Given the description of an element on the screen output the (x, y) to click on. 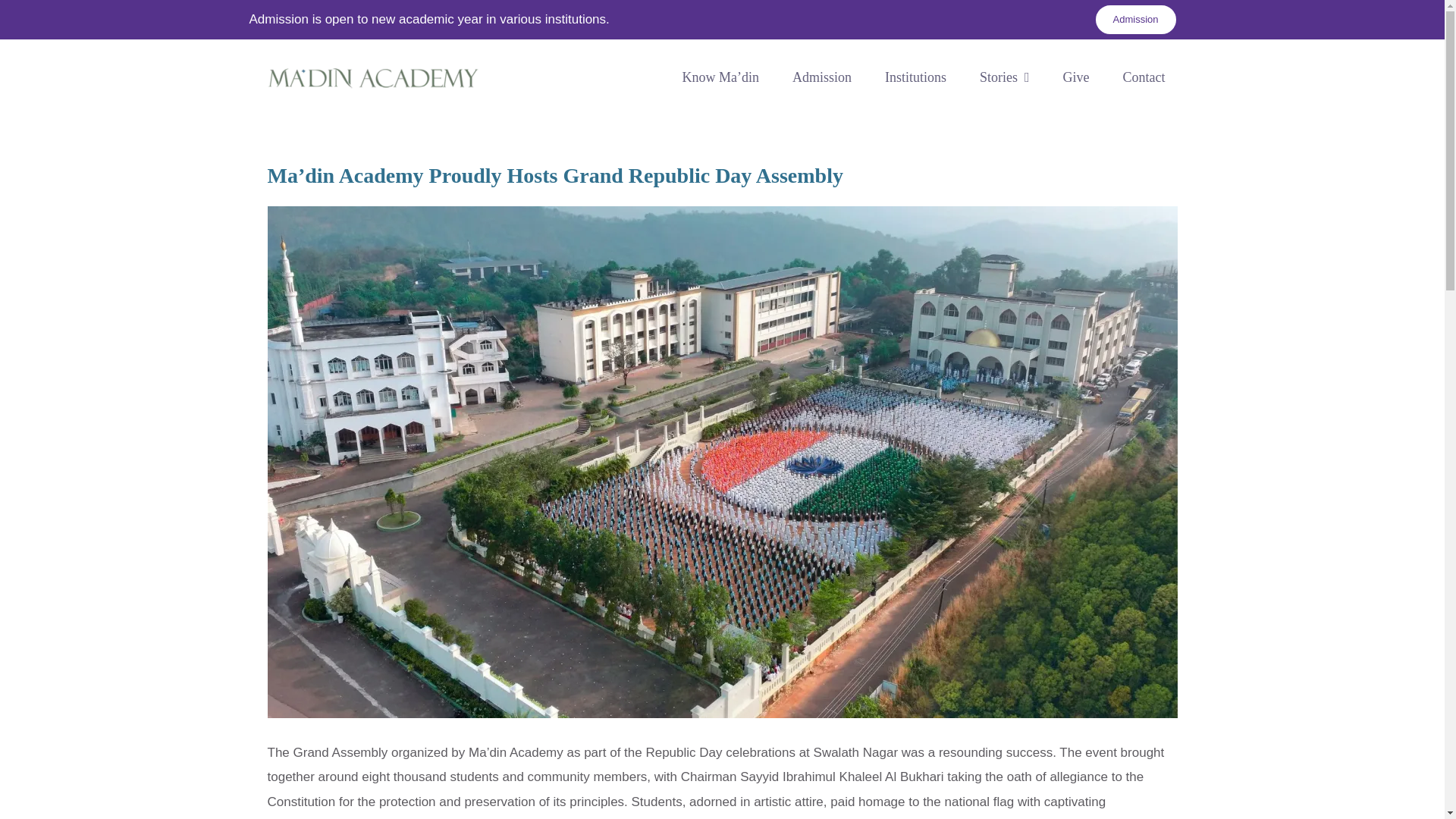
Give (1076, 77)
Institutions (915, 77)
Contact (1143, 77)
Admission (1135, 20)
Admission (821, 77)
Stories (1005, 77)
